Given the description of an element on the screen output the (x, y) to click on. 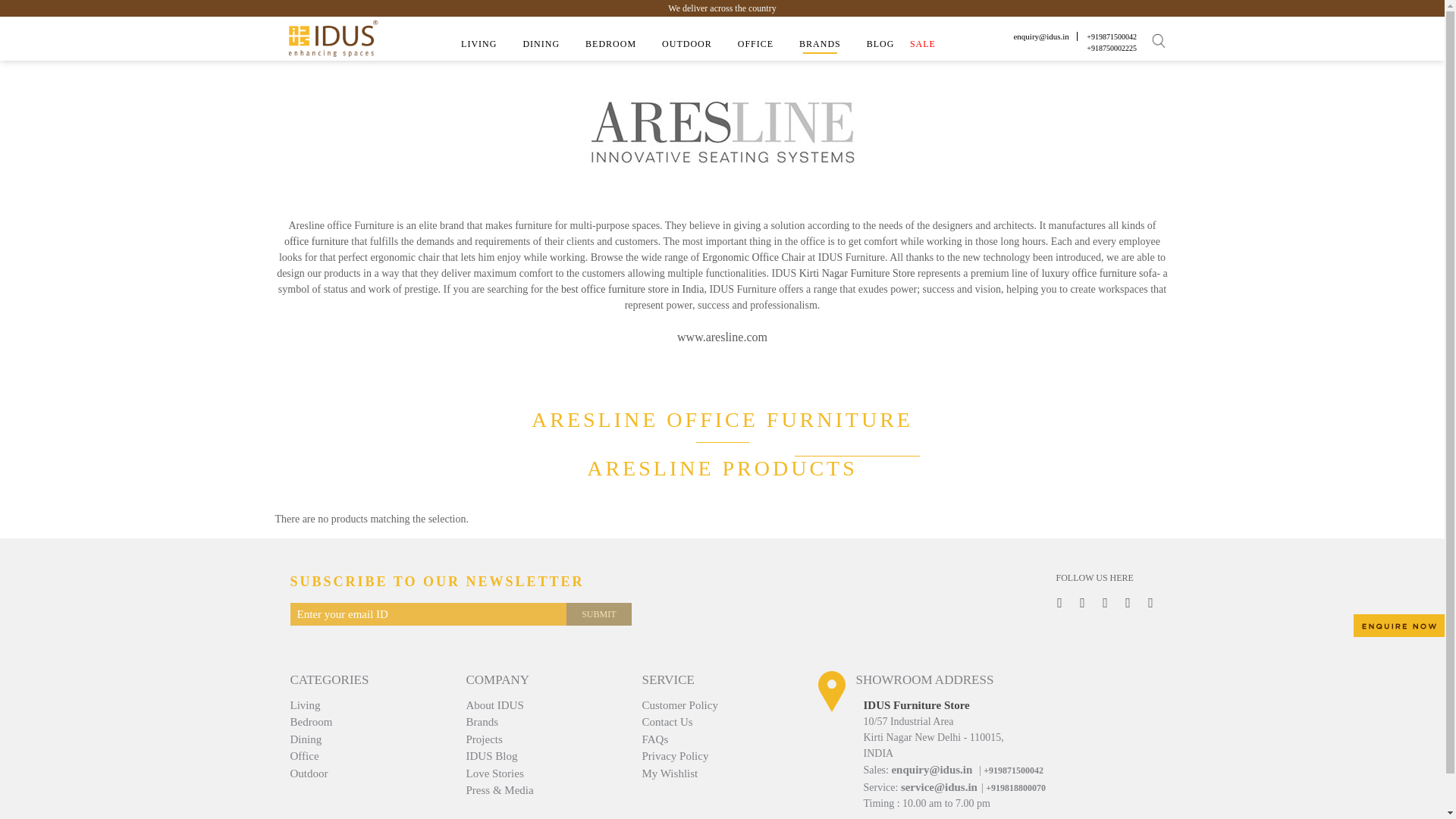
LIVING (478, 43)
Call IDUS Furniture (1111, 48)
DINING (540, 43)
OFFICE (755, 43)
Living Room Furniture (478, 43)
OUTDOOR (687, 43)
Search Furnitures (1158, 40)
BRANDS (819, 43)
Call IDUS Furniture (1111, 36)
Email IDUS Furniture (1040, 36)
BEDROOM (610, 43)
Search Furnitures (1161, 40)
